Given the description of an element on the screen output the (x, y) to click on. 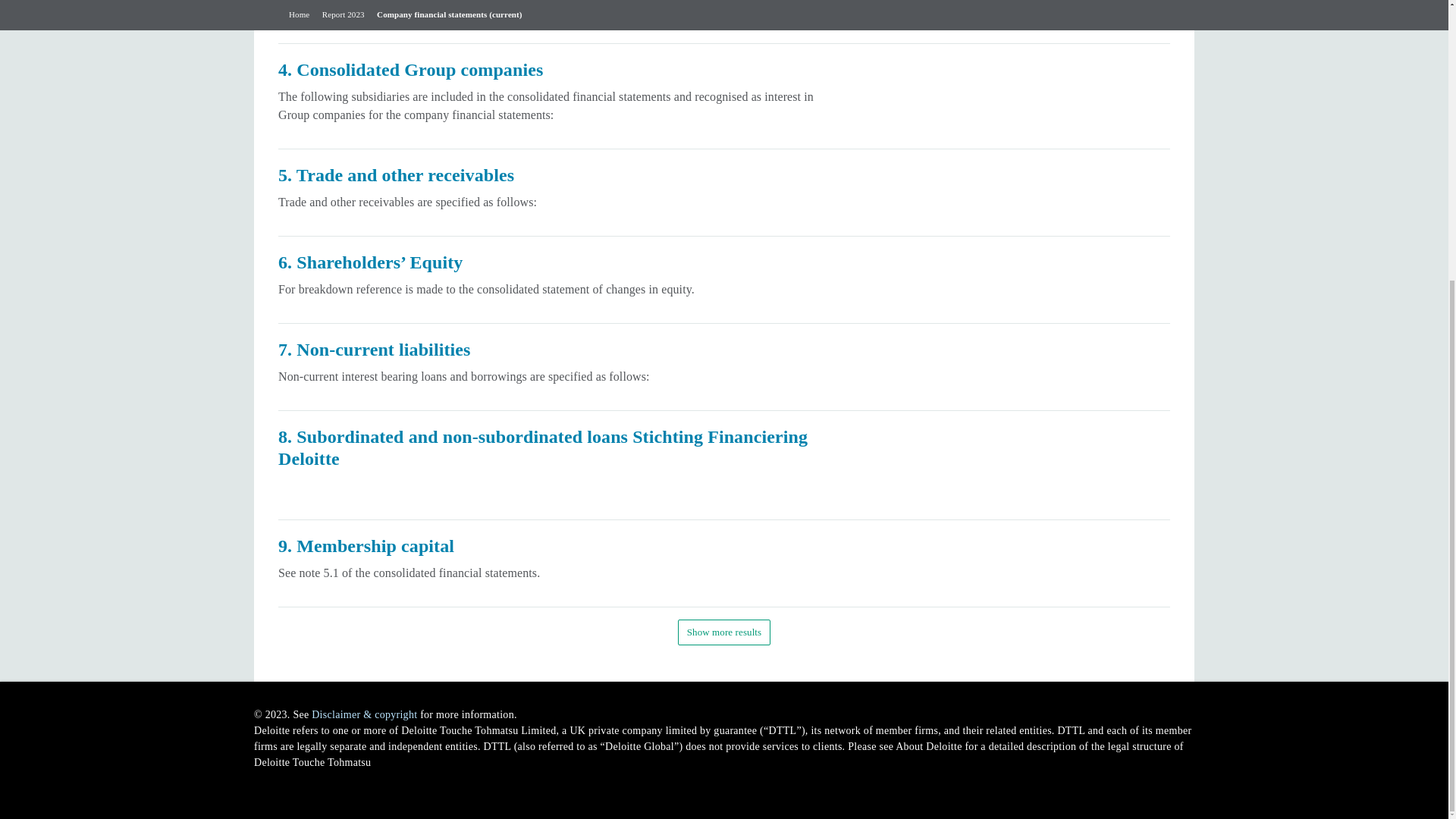
5. Trade and other receivables (724, 192)
7. Non-current liabilities (724, 367)
3. Receivables from Group companies (724, 22)
9. Membership capital (724, 563)
4. Consolidated Group companies (724, 96)
